Given the description of an element on the screen output the (x, y) to click on. 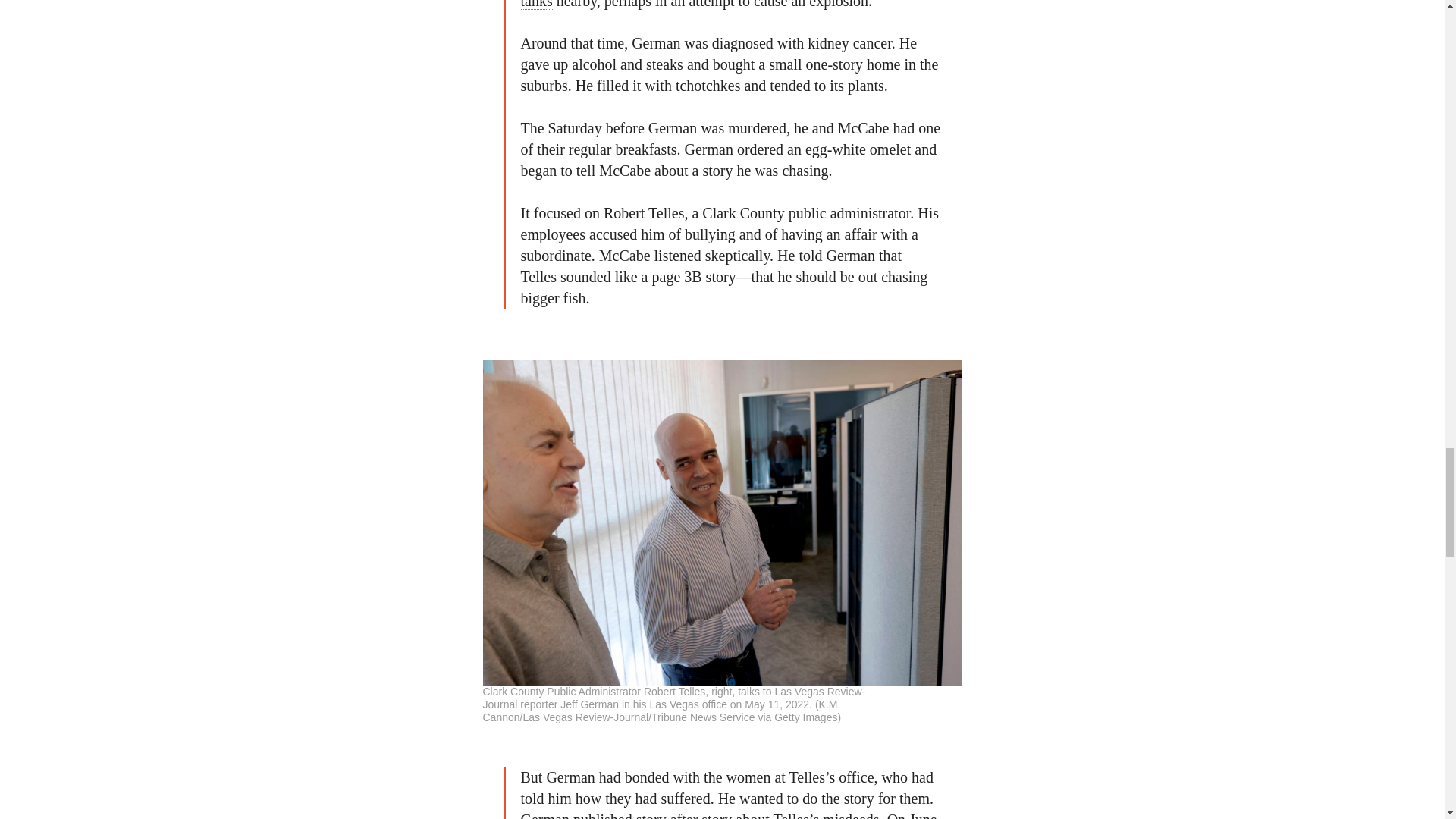
shot bullets into large jet-fuel tanks (724, 4)
